Given the description of an element on the screen output the (x, y) to click on. 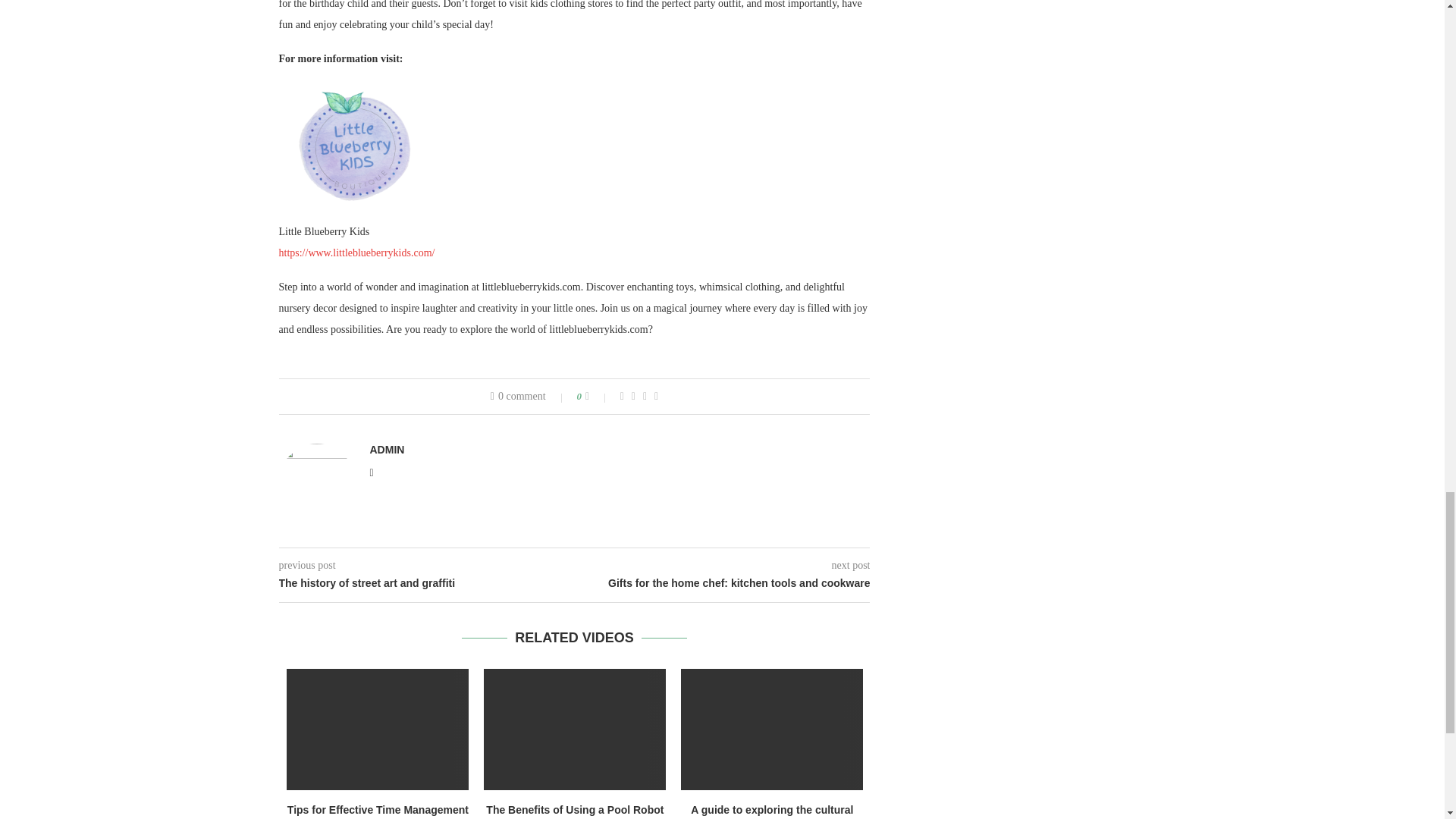
Author admin (386, 449)
A guide to exploring the cultural heritage of Qatar (772, 729)
The Benefits of Using a Pool Robot Cleaner for Maintenance (574, 729)
Tips for Effective Time Management for Busy Executives (377, 729)
Like (597, 396)
